Given the description of an element on the screen output the (x, y) to click on. 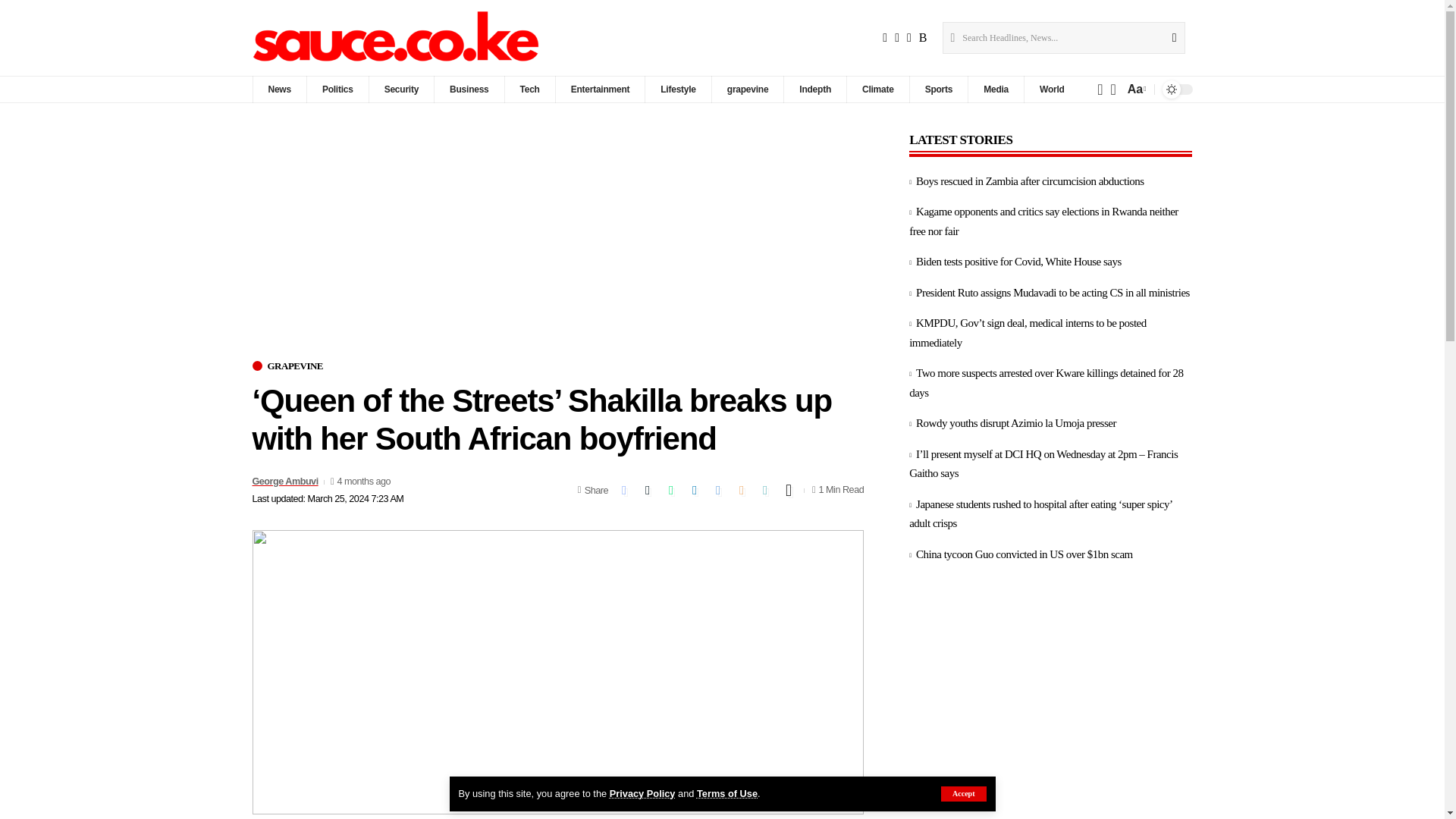
Terms of Use (727, 793)
Media (995, 89)
Accept (962, 793)
Indepth (814, 89)
Sports (938, 89)
Climate (876, 89)
sauce.co.ke (396, 37)
Security (400, 89)
World (1051, 89)
Tech (528, 89)
News (278, 89)
Entertainment (599, 89)
grapevine (747, 89)
Lifestyle (678, 89)
Business (468, 89)
